Given the description of an element on the screen output the (x, y) to click on. 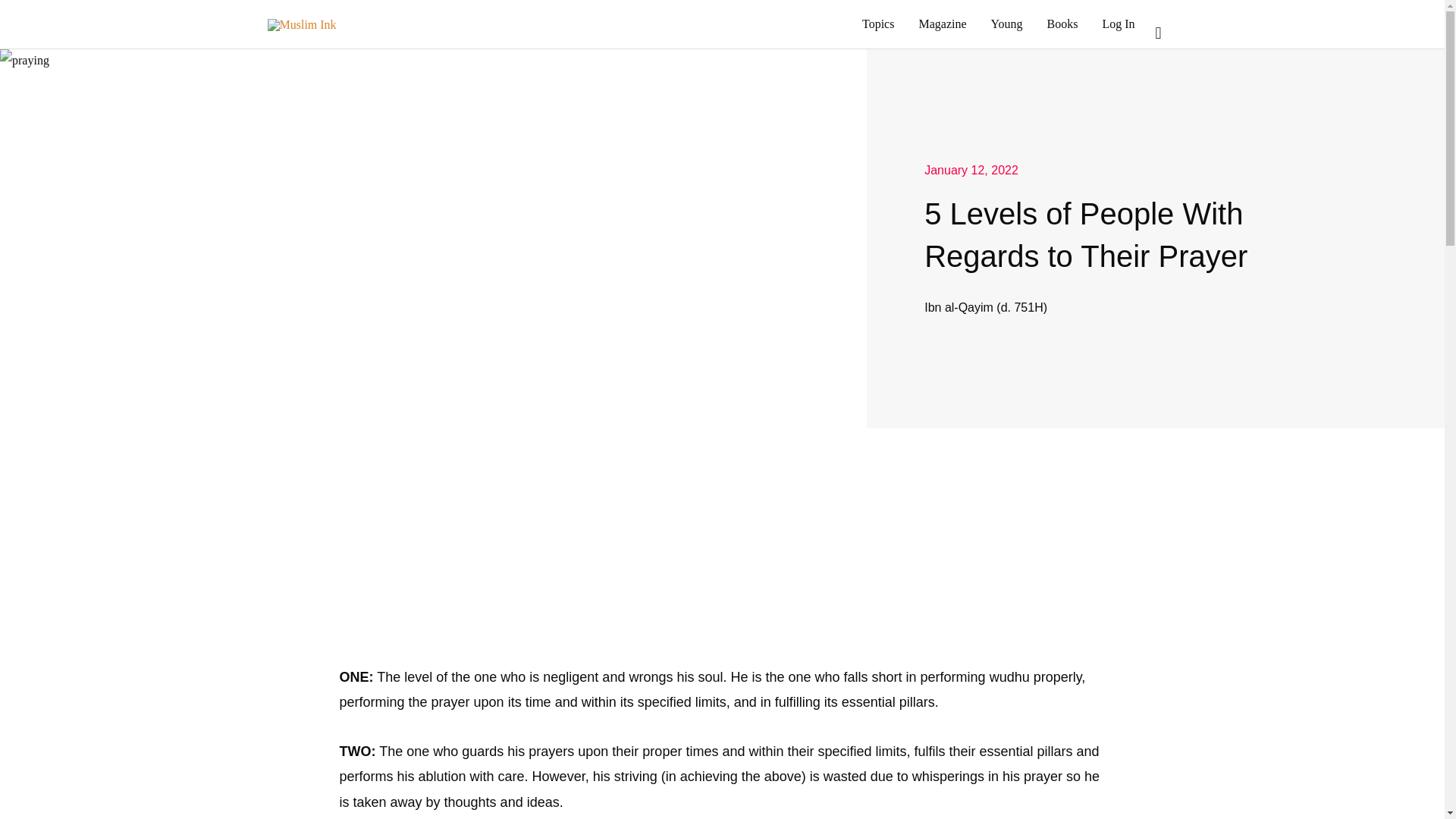
Young (1006, 24)
Books (1061, 24)
Magazine (941, 24)
Topics (877, 24)
January 12, 2022 (970, 169)
Log In (1118, 24)
